Given the description of an element on the screen output the (x, y) to click on. 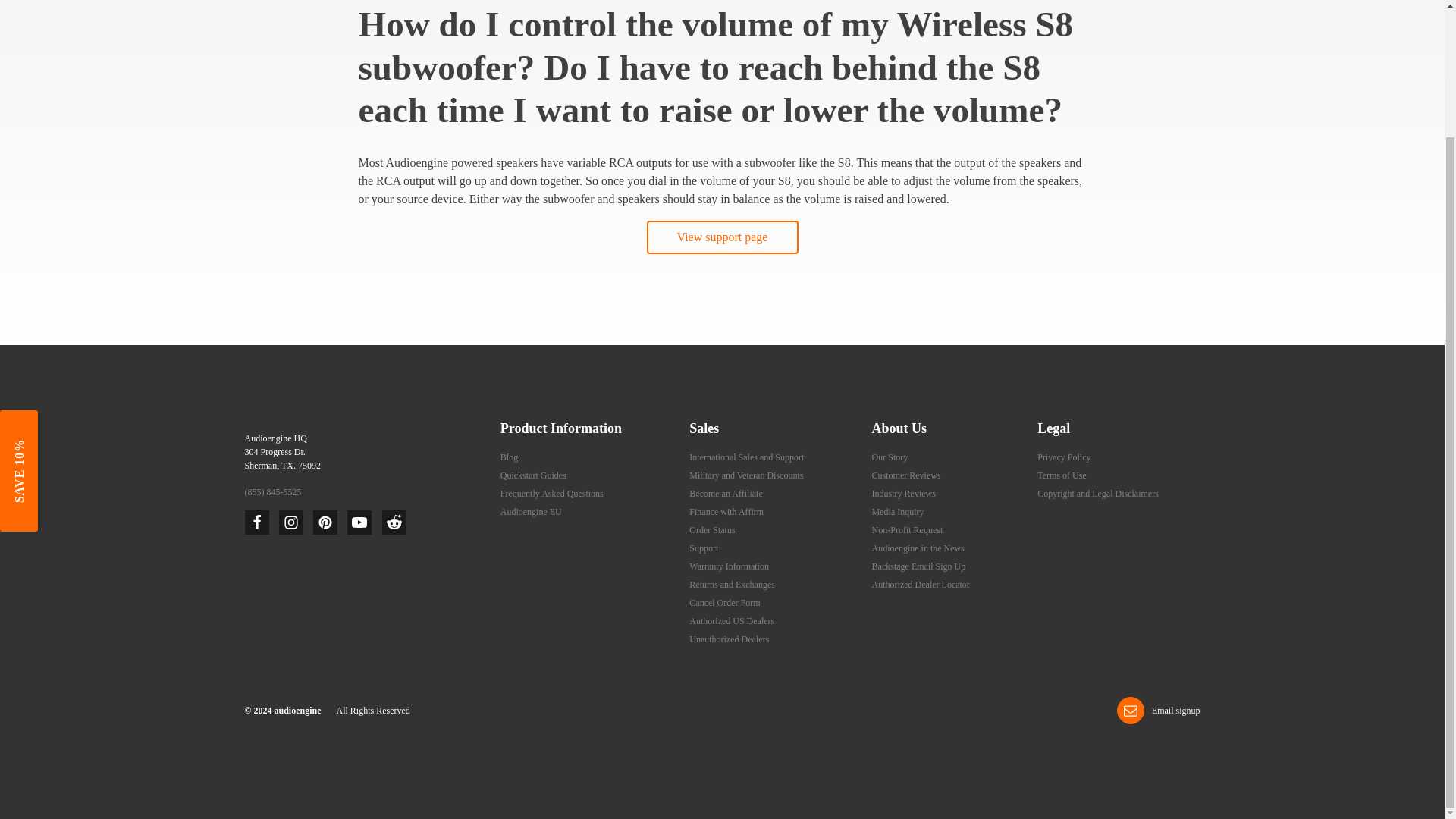
Visit us on Pinterest (325, 522)
View support page (721, 236)
Visit us on Reddit (393, 522)
Visit us on Instagram (290, 522)
Email Signup (1157, 709)
Visit us on Youtube (359, 522)
Visit us on facebook (255, 522)
